Given the description of an element on the screen output the (x, y) to click on. 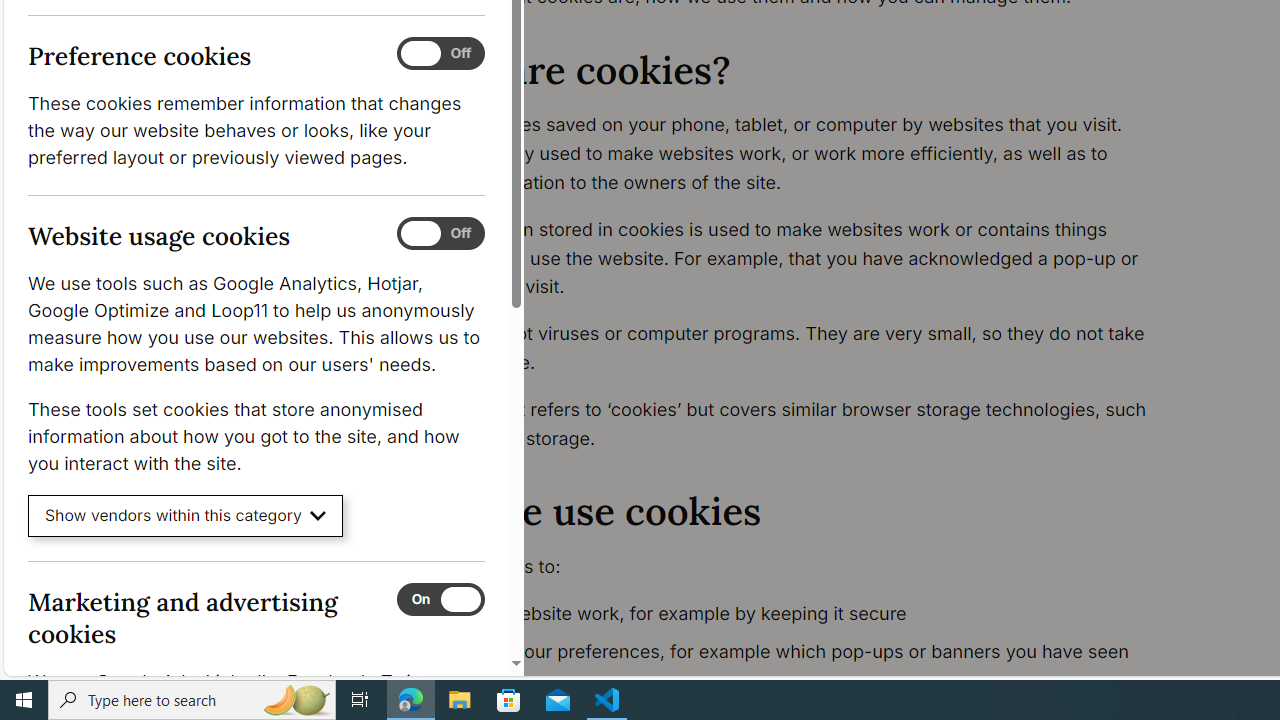
Preference cookies (440, 53)
make our website work, for example by keeping it secure (796, 614)
Marketing and advertising cookies (440, 599)
Show vendors within this category (185, 516)
Website usage cookies (440, 233)
